Given the description of an element on the screen output the (x, y) to click on. 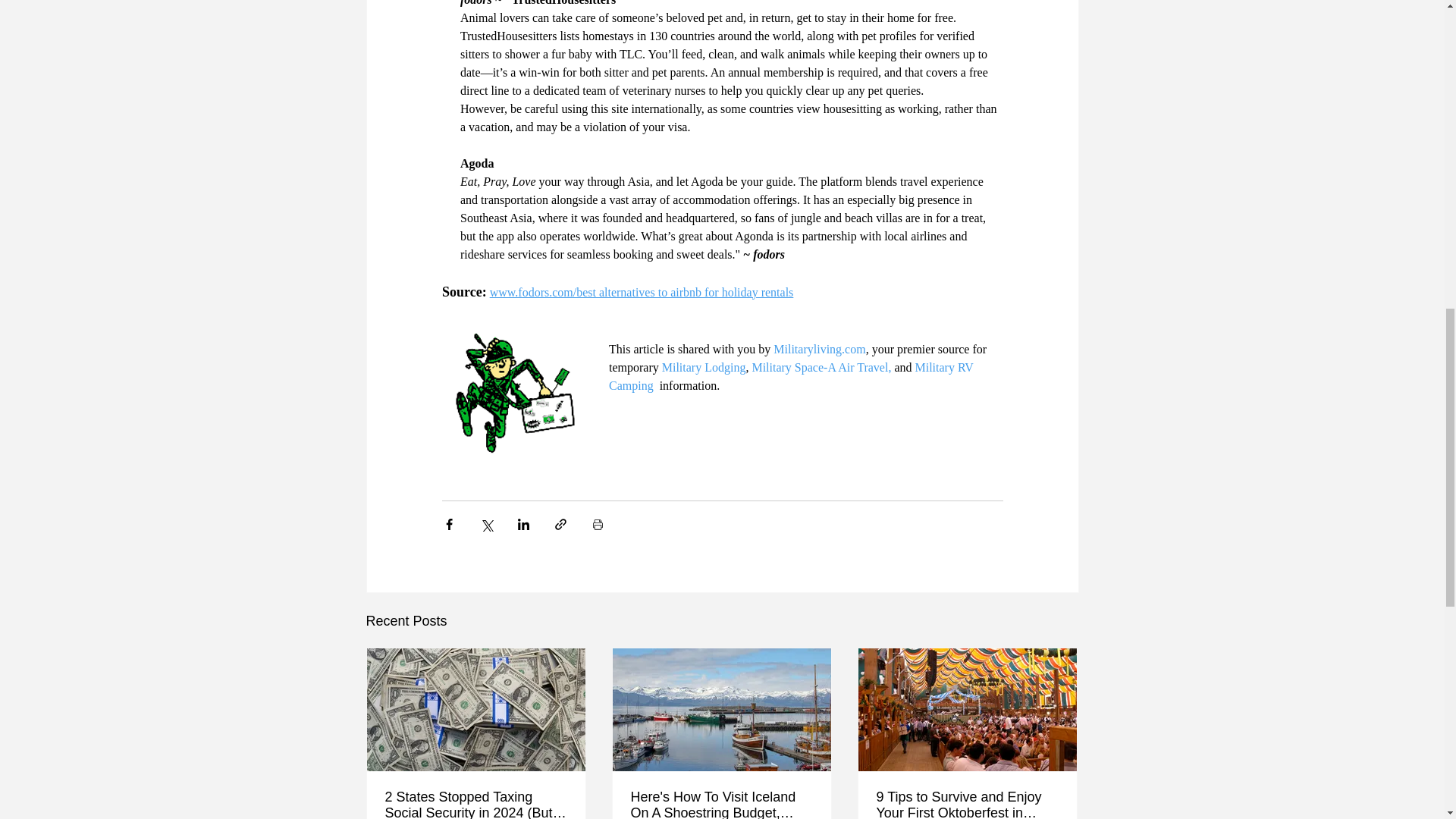
Military Lodging (703, 366)
9 Tips to Survive and Enjoy Your First Oktoberfest in Munich (967, 804)
Military Space-A Air Travel, (821, 366)
Militaryliving.com (818, 348)
Military RV Camping (791, 375)
